Given the description of an element on the screen output the (x, y) to click on. 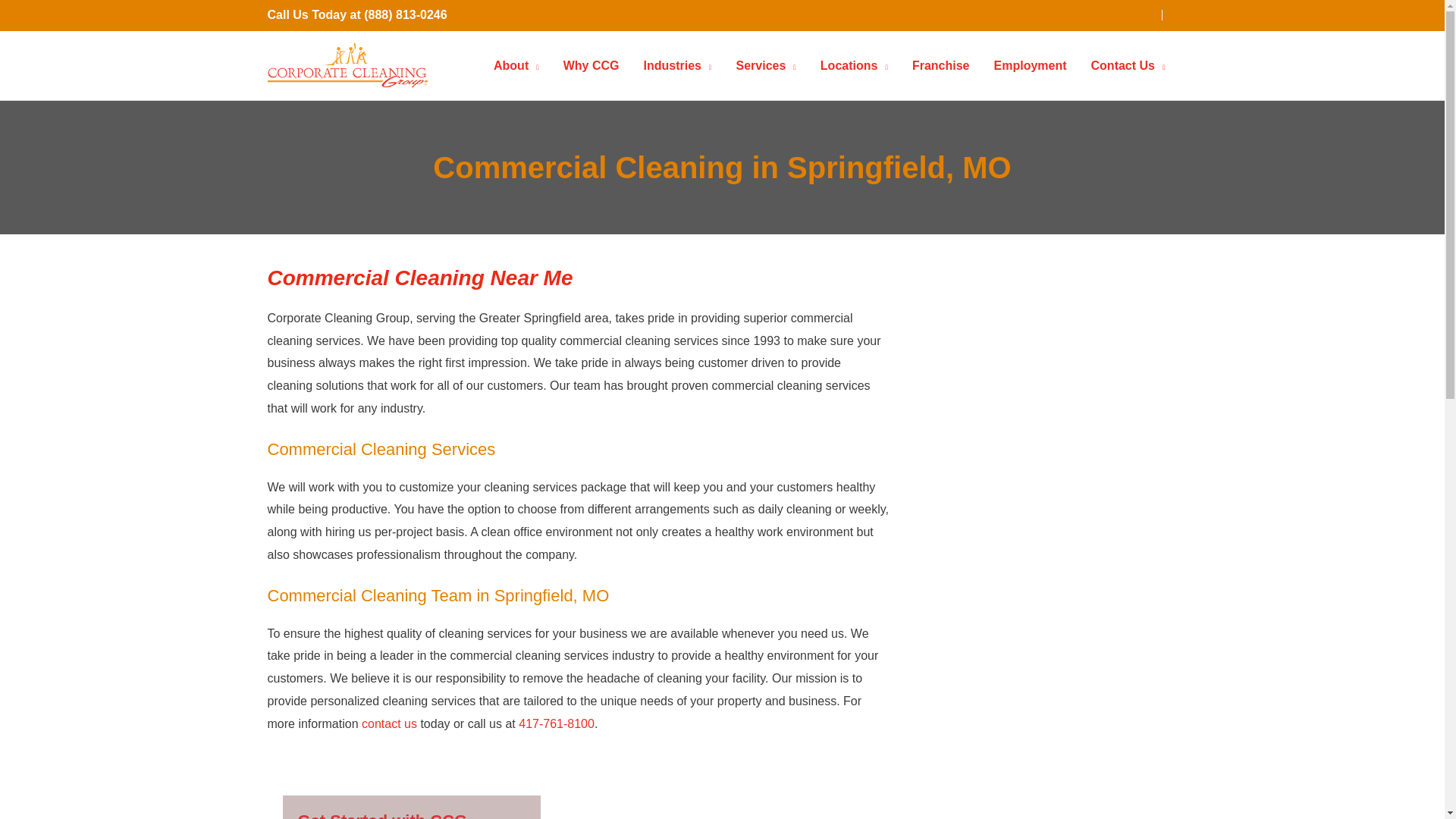
Industries (676, 65)
Locations (853, 65)
Services (765, 65)
About (516, 65)
Why CCG (591, 65)
